Given the description of an element on the screen output the (x, y) to click on. 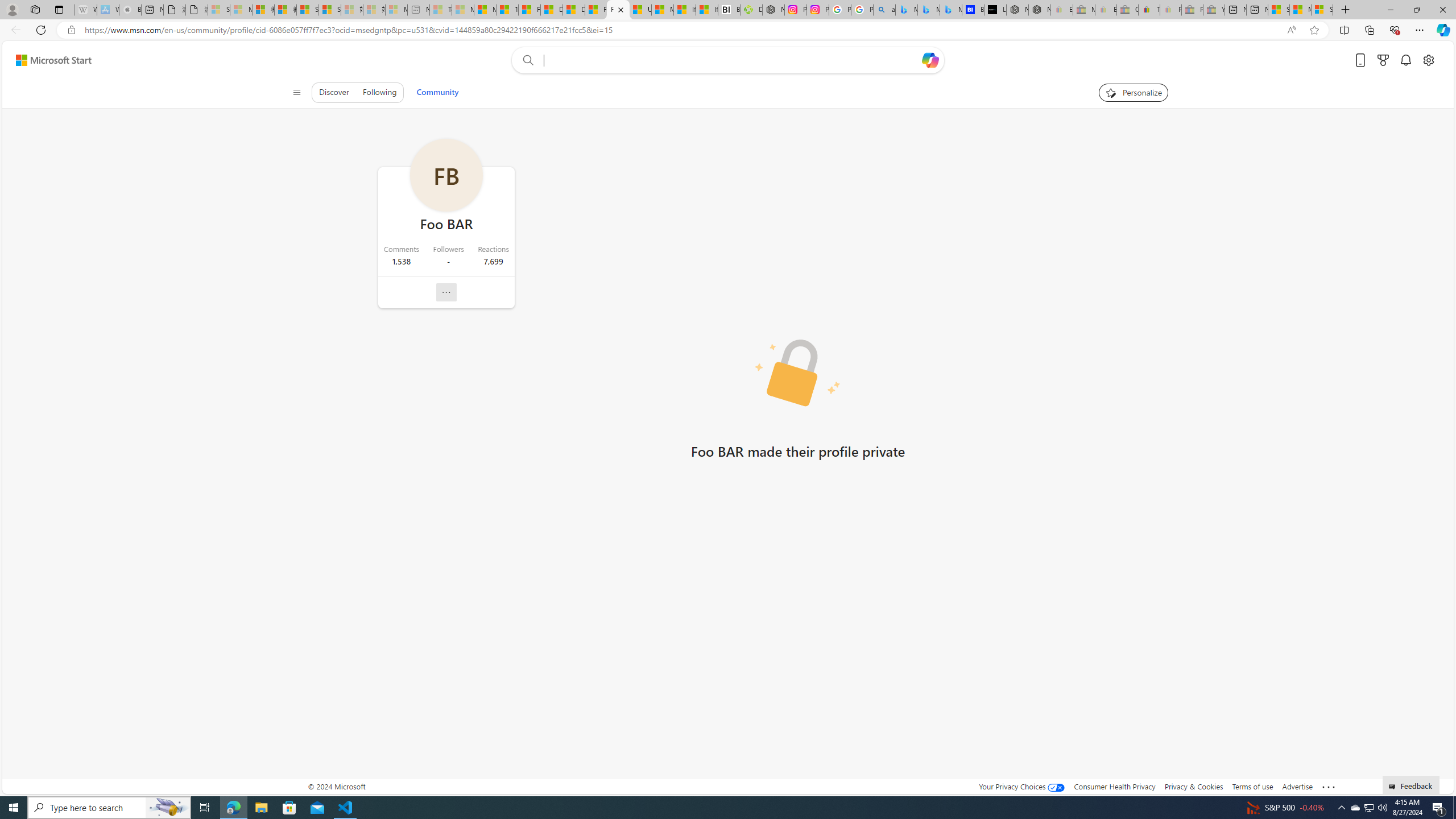
Your Privacy Choices (1021, 786)
Your Privacy Choices (1021, 785)
Class: cwt-icon-vector (445, 291)
